Given the description of an element on the screen output the (x, y) to click on. 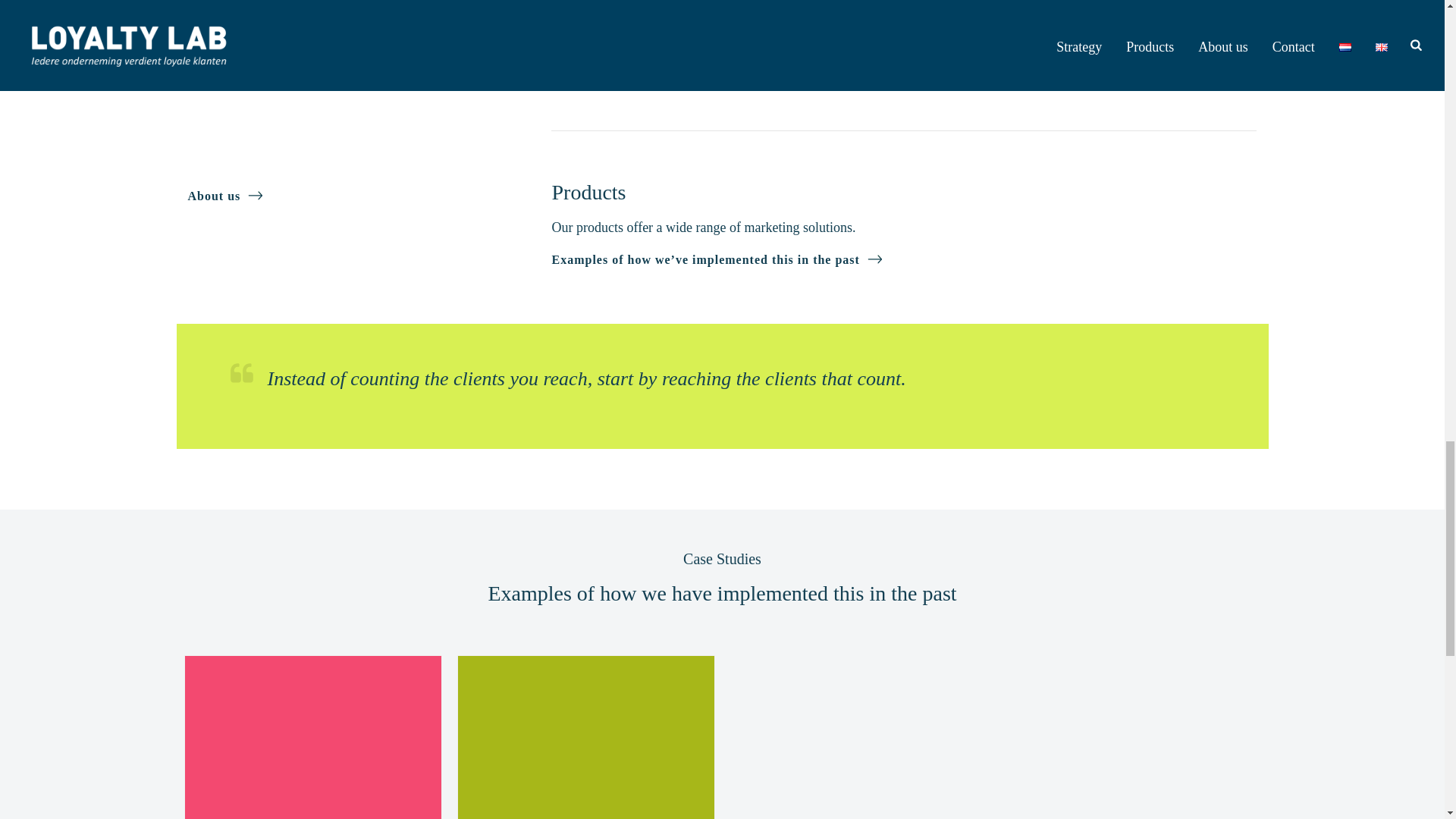
About us (225, 193)
Volvo (586, 737)
Read more (594, 71)
Essilor (312, 737)
About us (225, 193)
Read more (594, 71)
